Given the description of an element on the screen output the (x, y) to click on. 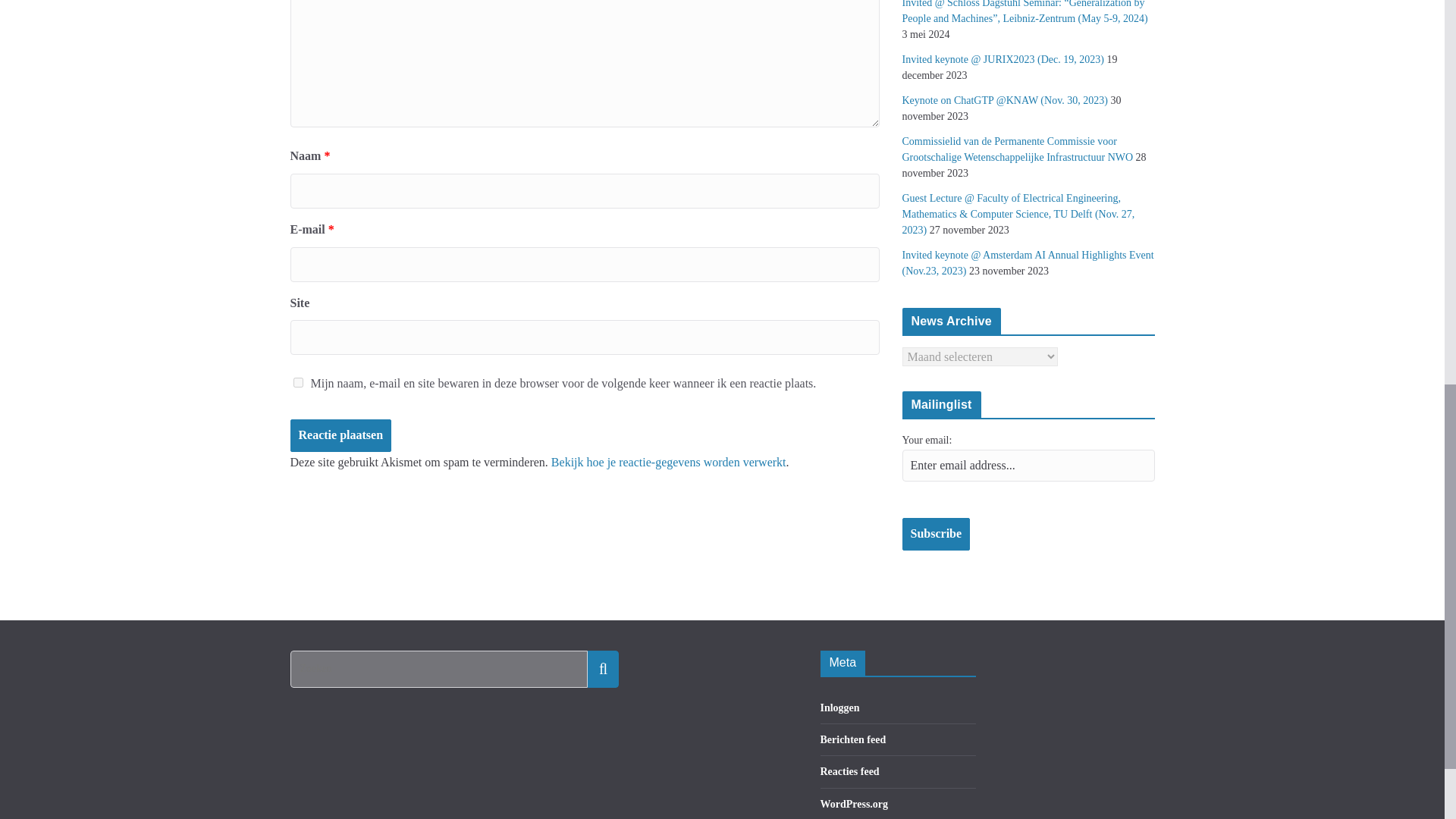
Reactie plaatsen (340, 435)
Reactie plaatsen (340, 435)
Subscribe (936, 533)
Enter email address... (1028, 465)
yes (297, 382)
Bekijk hoe je reactie-gegevens worden verwerkt (668, 461)
